Given the description of an element on the screen output the (x, y) to click on. 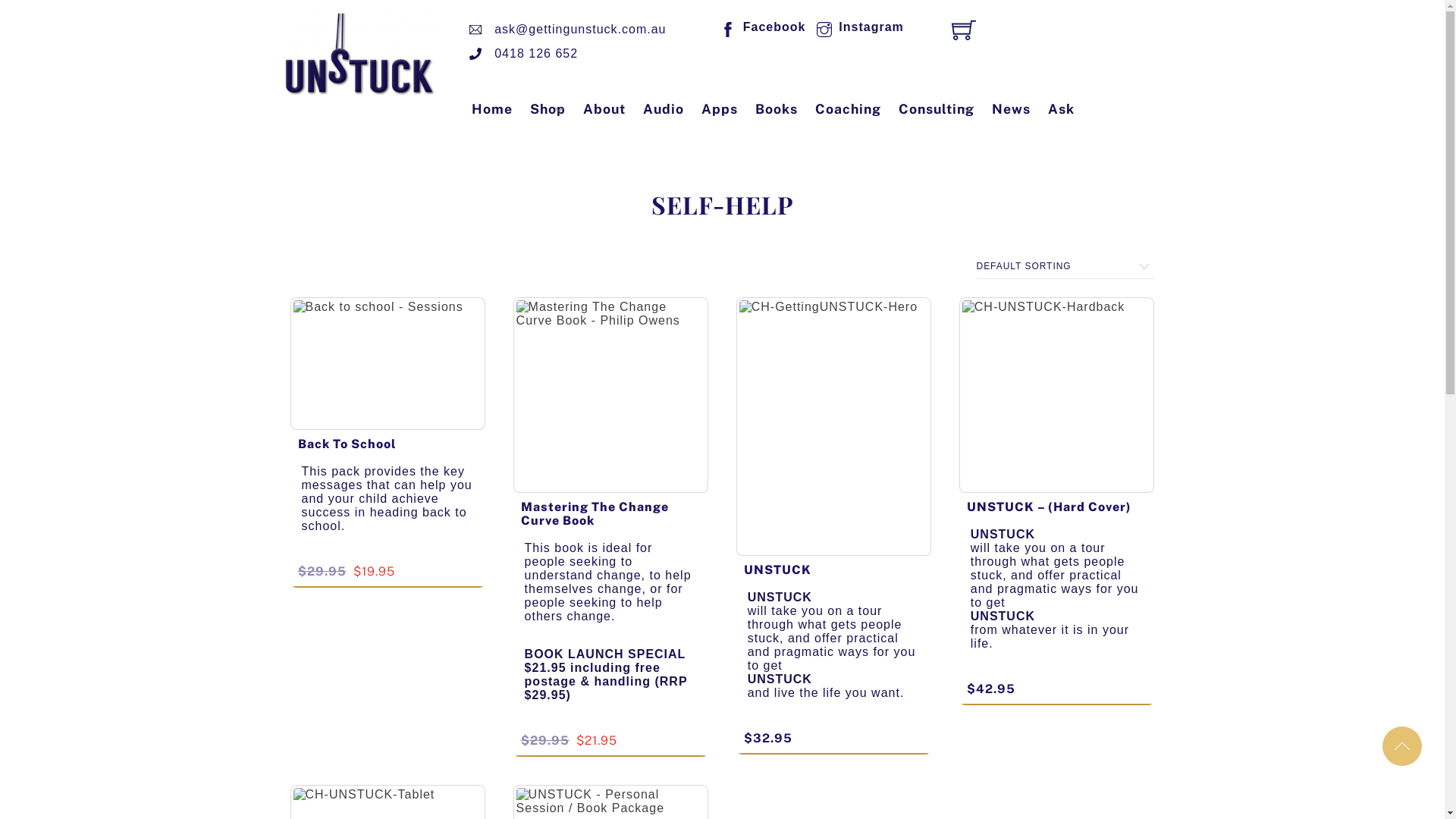
Facebook Element type: text (761, 26)
Coaching Element type: text (847, 109)
Instagram Element type: text (858, 26)
Ask Element type: text (1060, 109)
0418 126 652 Element type: text (524, 53)
Consulting Element type: text (936, 109)
Home Element type: text (491, 109)
CH-GettingUNSTUCK-Hero Element type: hover (833, 426)
CH-POwens-MCC-BookCover-Hero-updated Element type: hover (611, 394)
About Element type: text (603, 109)
Unstuck-logo.png Element type: hover (358, 52)
Back To School Element type: text (346, 443)
Shop Element type: text (547, 109)
ask@gettingunstuck.com.au Element type: text (568, 29)
Books Element type: text (776, 109)
Apps Element type: text (719, 109)
Back to school - Sessions Element type: hover (387, 363)
Audio Element type: text (663, 109)
CH-UNSTUCK-Hardback Element type: hover (1056, 394)
News Element type: text (1010, 109)
Mastering The Change Curve Book Element type: text (594, 513)
UNSTUCK Element type: text (777, 569)
